Given the description of an element on the screen output the (x, y) to click on. 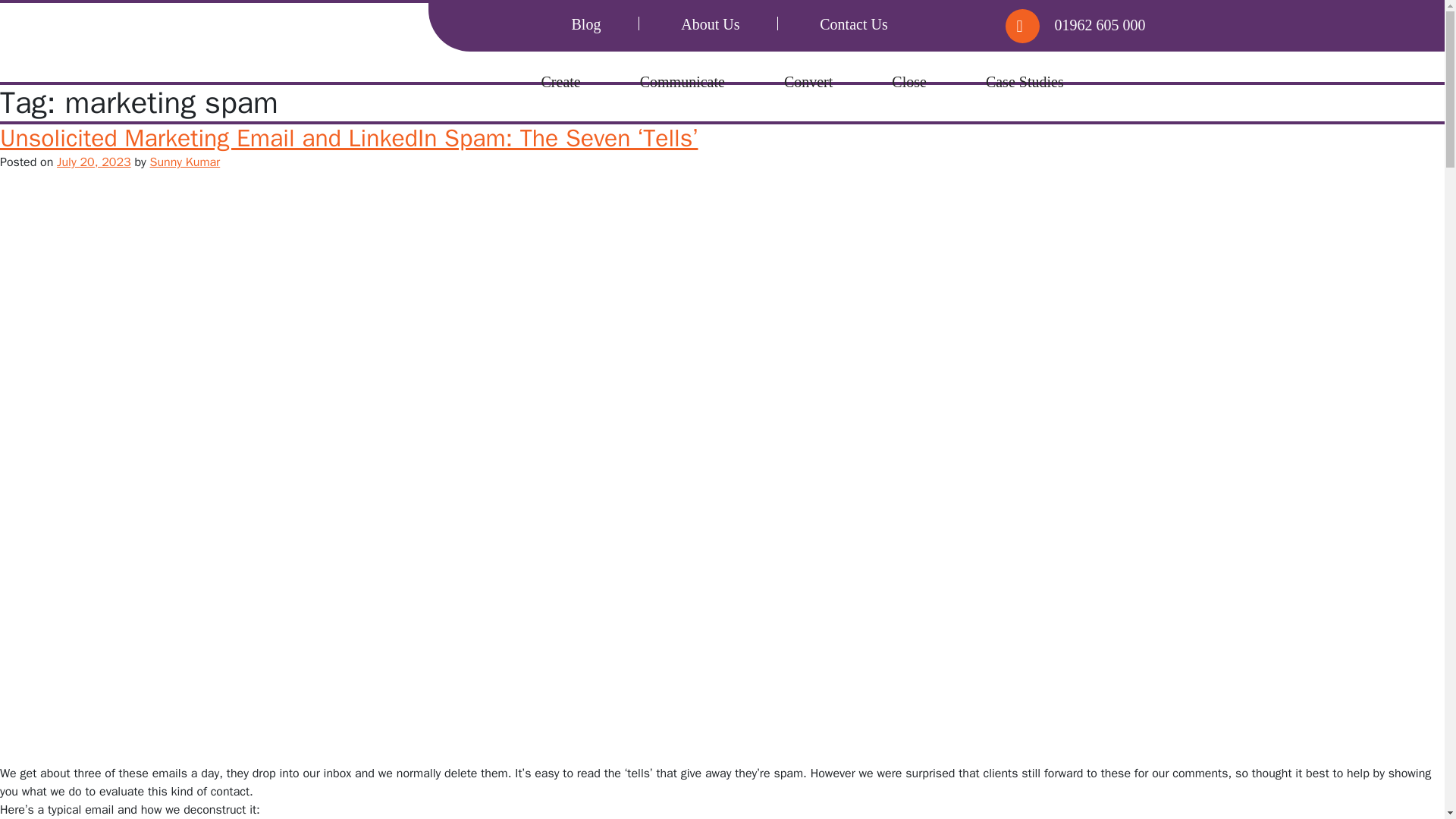
About Us (710, 23)
Create (560, 81)
Communicate (682, 81)
July 20, 2023 (93, 161)
Contact Us (852, 23)
01962 605 000 (1091, 24)
Convert (808, 81)
Close (908, 81)
Sunny Kumar (185, 161)
Blog (586, 23)
